Given the description of an element on the screen output the (x, y) to click on. 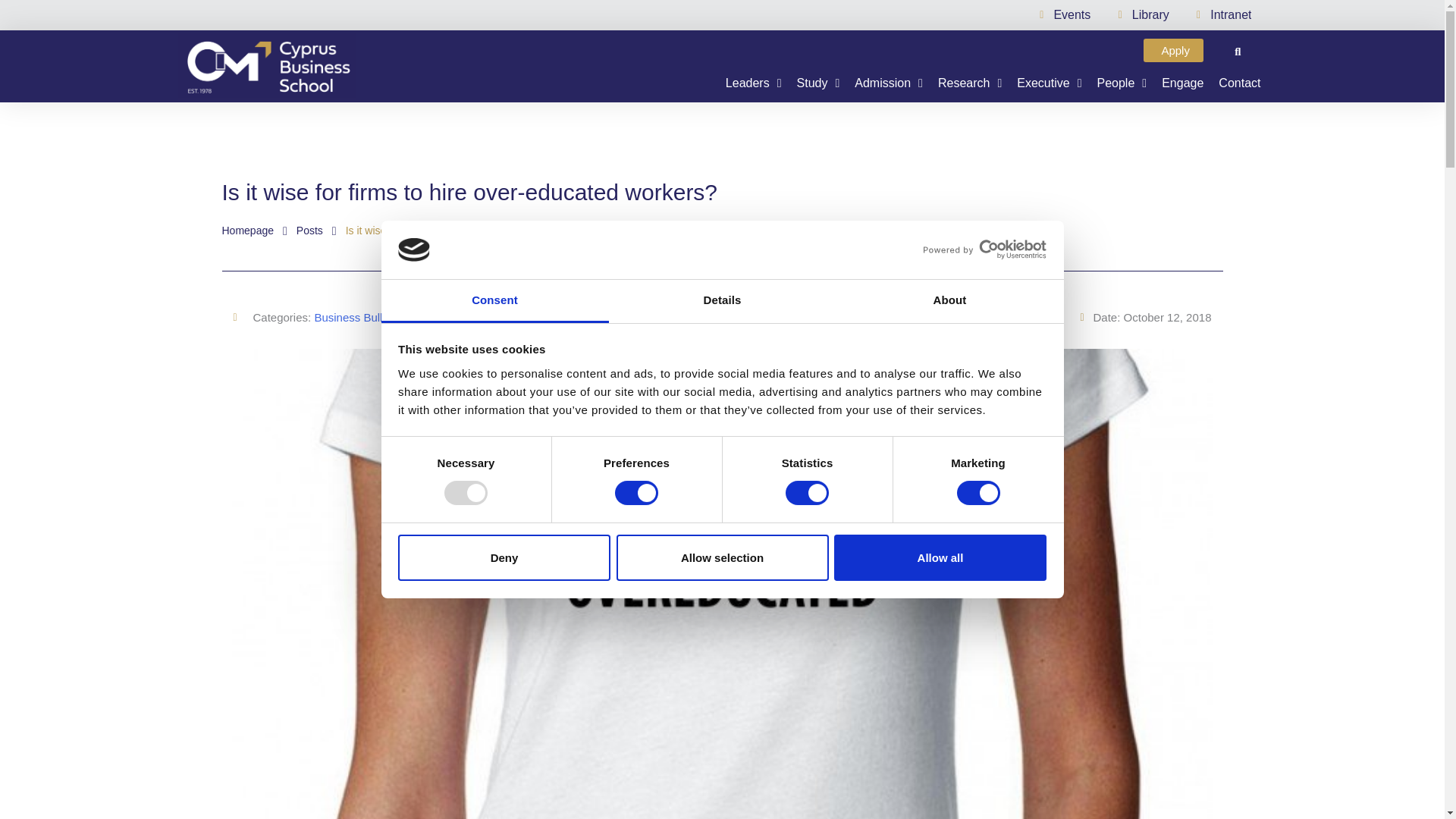
About (948, 301)
Consent (494, 301)
Allow selection (721, 557)
Details (721, 301)
Deny (503, 557)
